Given the description of an element on the screen output the (x, y) to click on. 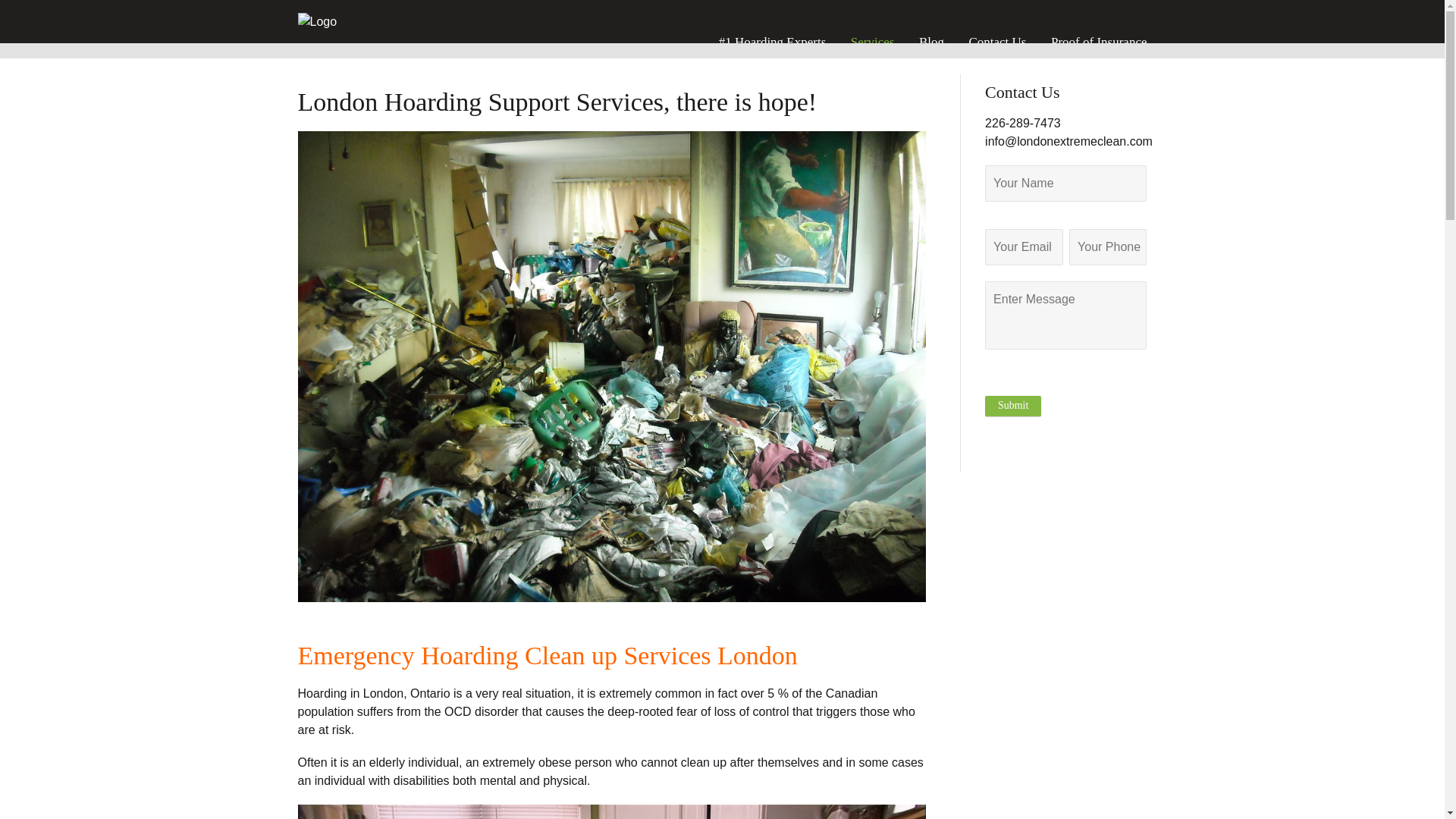
Proof of Insurance (1097, 41)
Services (872, 41)
Contact Us (997, 41)
Submit (1013, 405)
Submit (1013, 405)
